Given the description of an element on the screen output the (x, y) to click on. 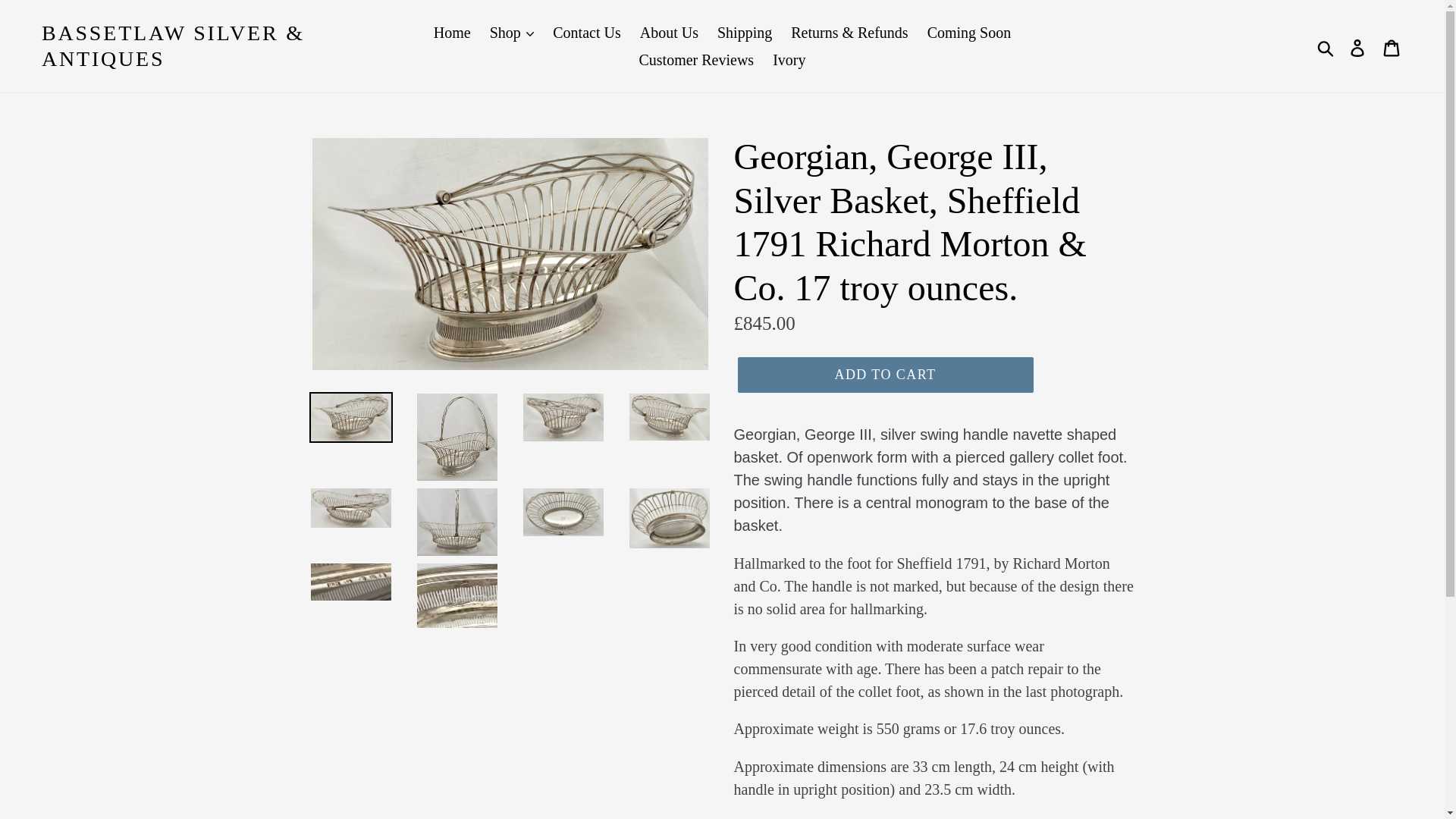
Submit (1326, 45)
Customer Reviews (695, 59)
Ivory (788, 59)
Home (452, 31)
Cart (1392, 46)
About Us (668, 31)
Coming Soon (969, 31)
Log in (1357, 46)
Shipping (744, 31)
Contact Us (585, 31)
